Given the description of an element on the screen output the (x, y) to click on. 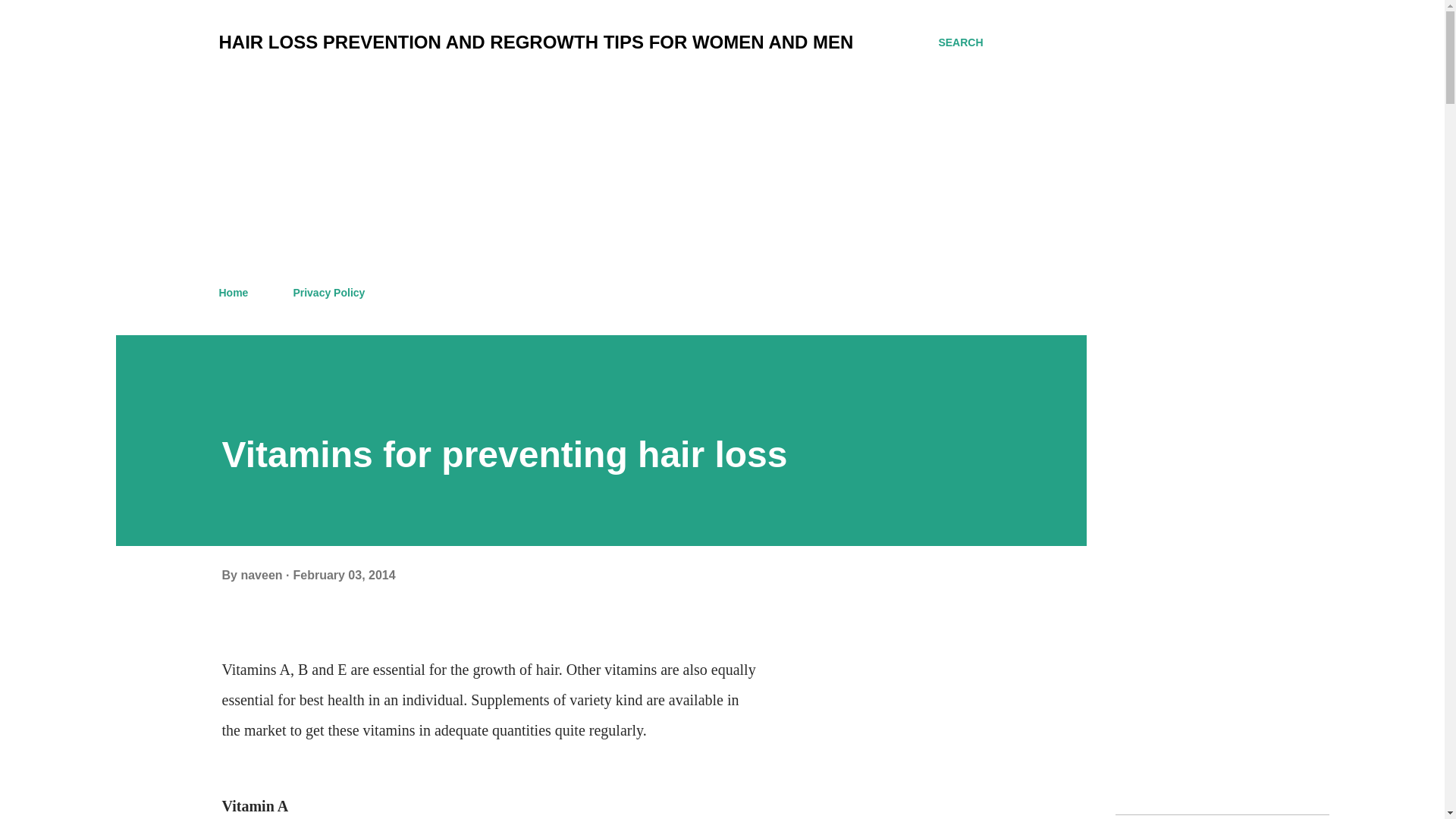
February 03, 2014 (343, 574)
Home (237, 292)
SEARCH (959, 42)
HAIR LOSS PREVENTION AND REGROWTH TIPS FOR WOMEN AND MEN (535, 41)
author profile (262, 574)
naveen (262, 574)
Privacy Policy (328, 292)
permanent link (343, 574)
